Given the description of an element on the screen output the (x, y) to click on. 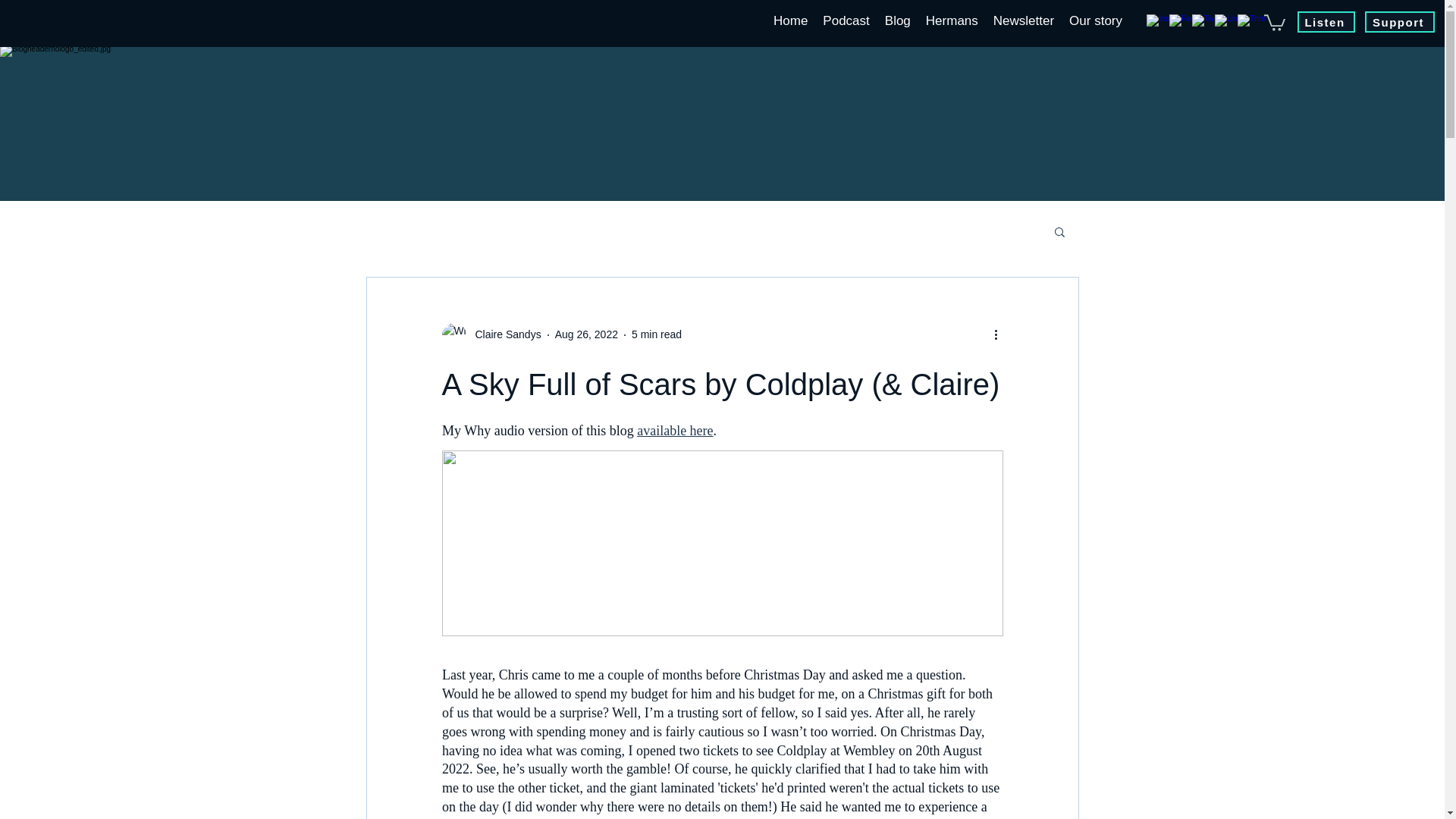
available here (675, 430)
Hermans (951, 21)
5 min read (656, 334)
Listen (1326, 21)
Aug 26, 2022 (585, 334)
Newsletter (1023, 21)
Our story (1095, 21)
Support (1399, 21)
Home (790, 21)
Blog (897, 21)
